Given the description of an element on the screen output the (x, y) to click on. 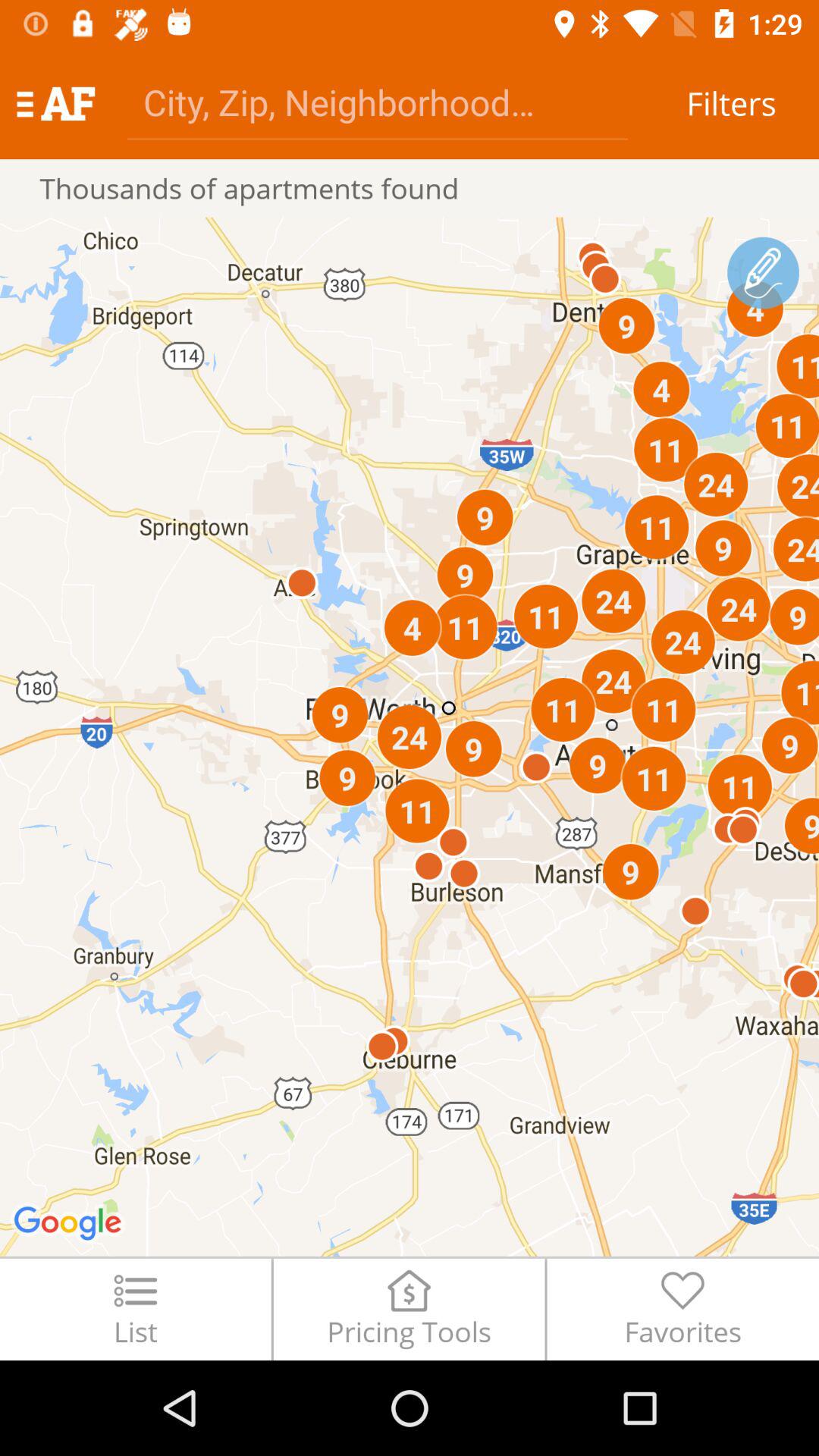
click the item next to the favorites icon (408, 1309)
